Given the description of an element on the screen output the (x, y) to click on. 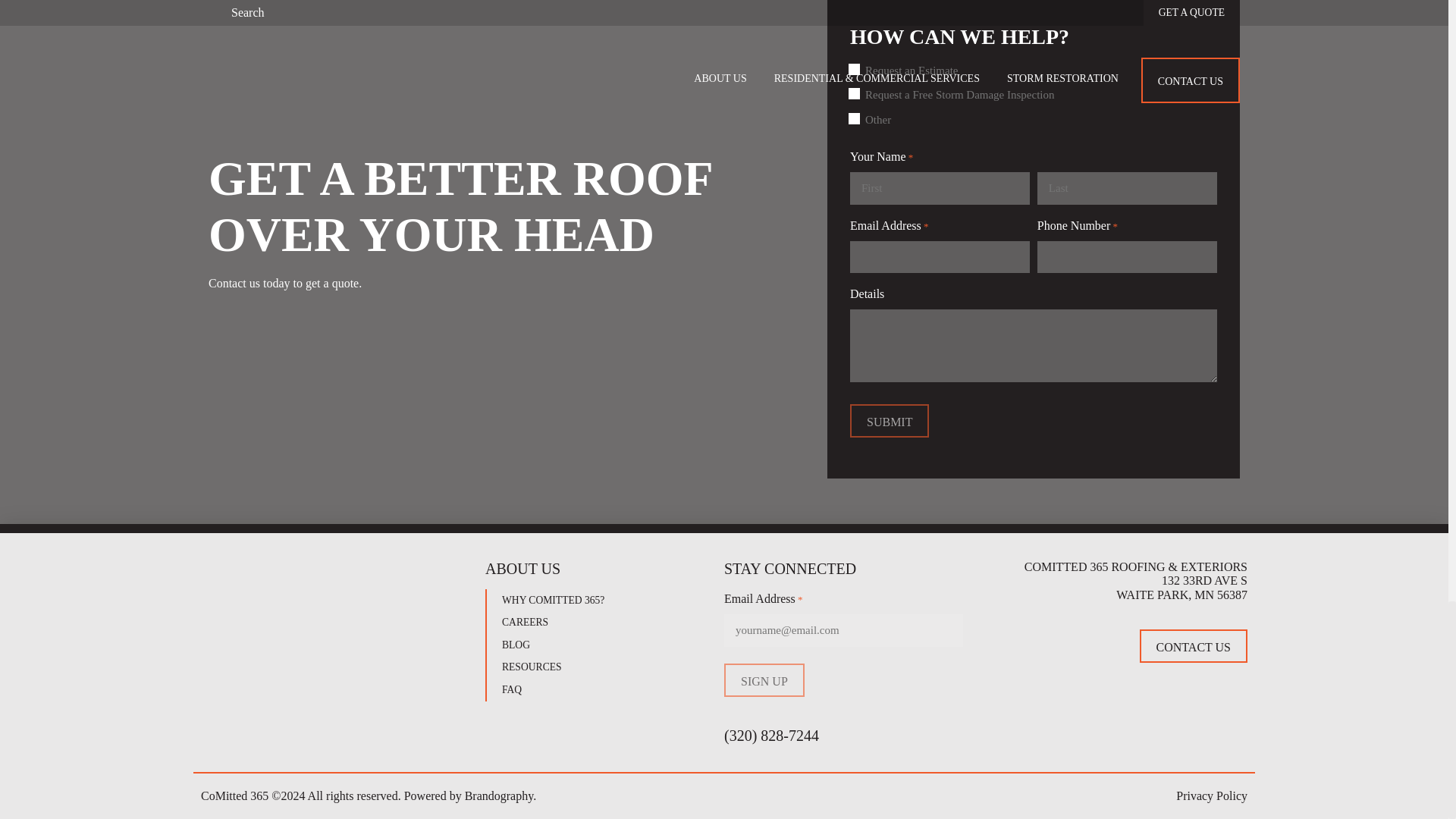
Request an Estimate (857, 69)
Other (857, 118)
Submit (889, 420)
Request a Free Storm Damage Inspection (857, 93)
Sign Up (764, 679)
